Given the description of an element on the screen output the (x, y) to click on. 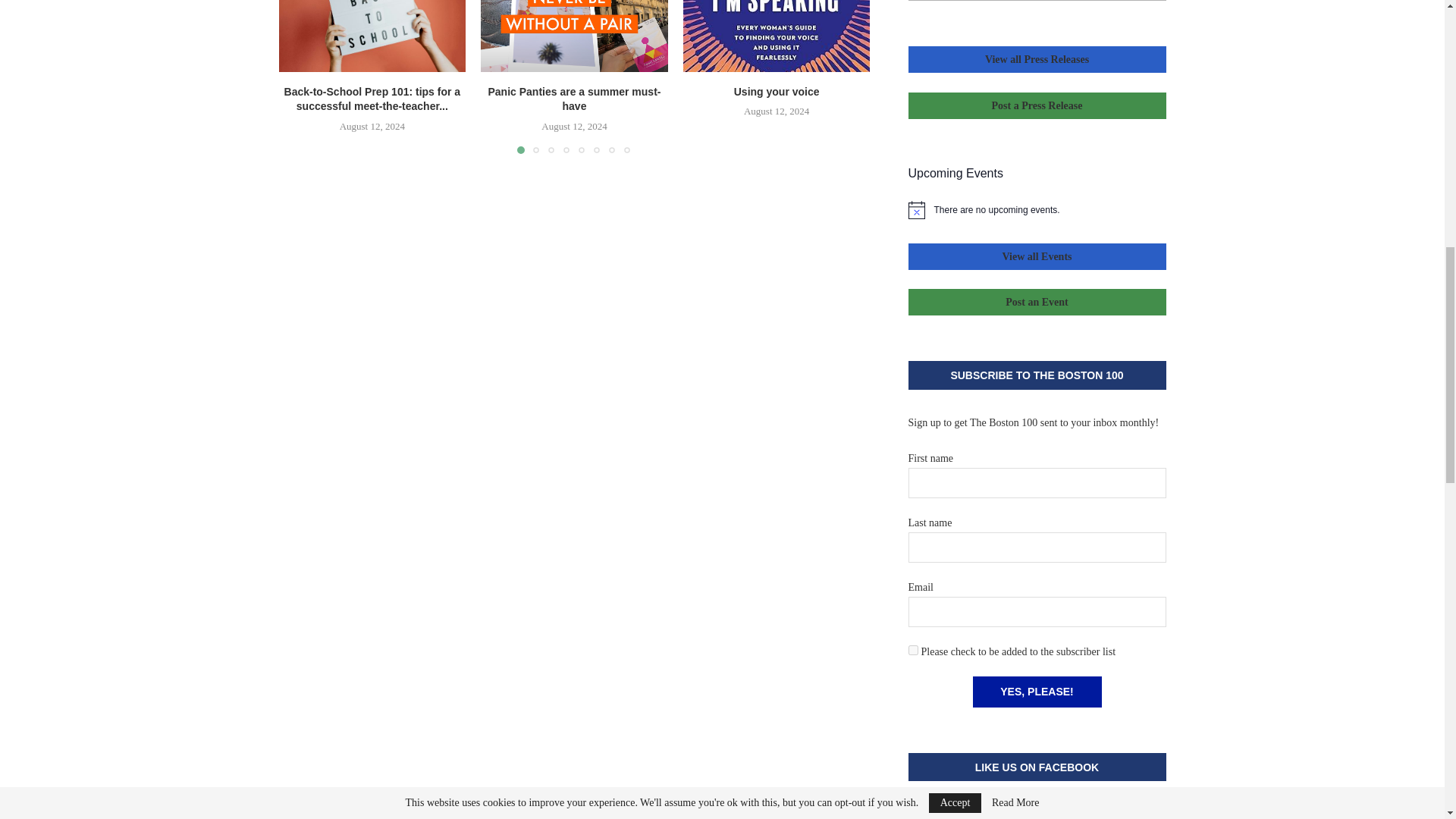
Using your voice (776, 35)
YES, PLEASE! (1036, 691)
1 (913, 650)
Panic Panties are a summer must-have (574, 35)
